Given the description of an element on the screen output the (x, y) to click on. 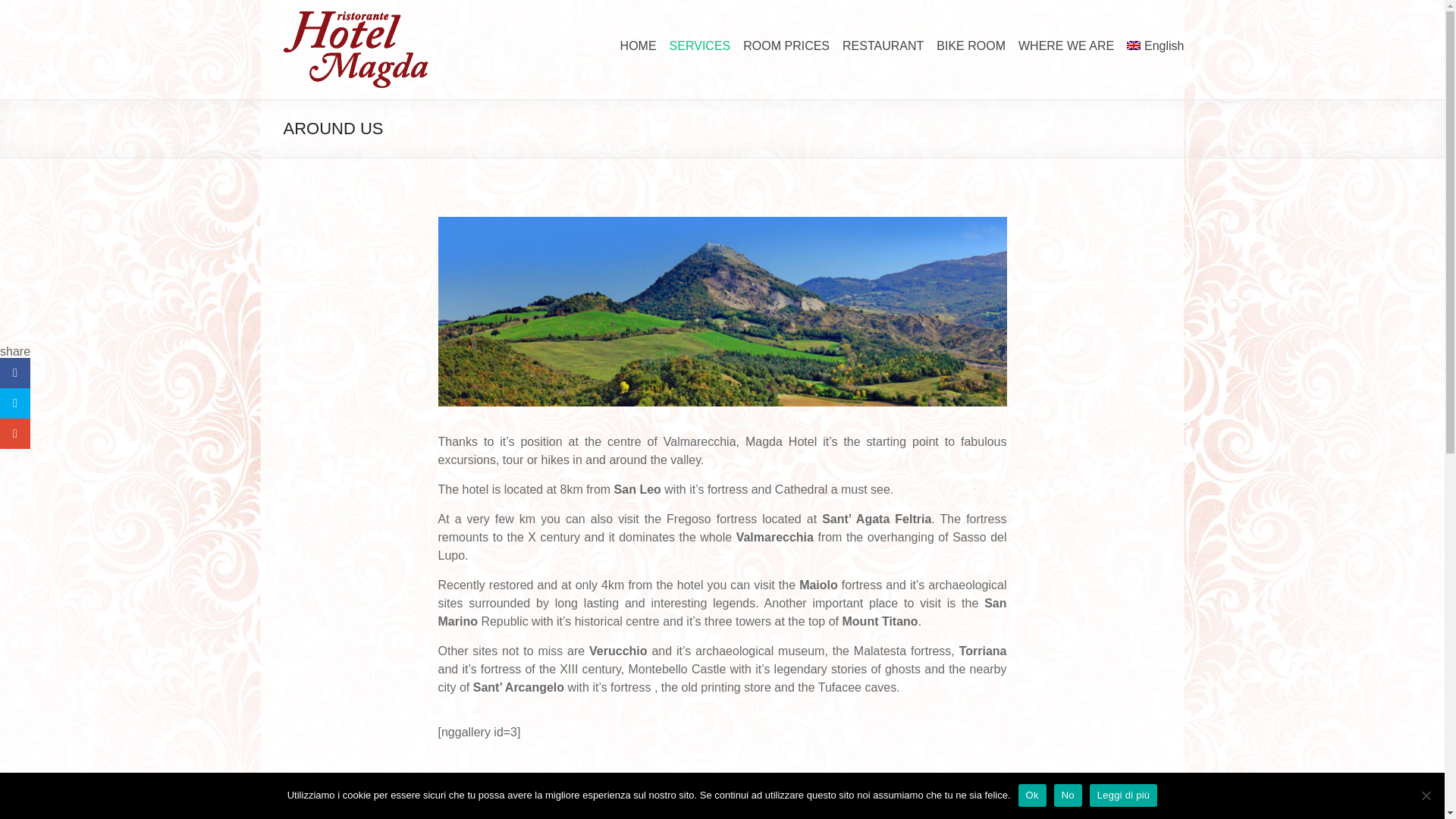
RESTAURANT (883, 43)
BIKE ROOM (971, 43)
BIKE ROOM (971, 43)
Hotel Ristorante Magda Novafeltria Rimini (355, 18)
ROOM PRICES (785, 43)
ROOM PRICES (785, 43)
RESTAURANT (883, 43)
SERVICES (699, 43)
WHERE WE ARE (1065, 43)
SERVICES (699, 43)
English (1154, 43)
Ok (1031, 794)
No (1067, 794)
English (1154, 43)
